Given the description of an element on the screen output the (x, y) to click on. 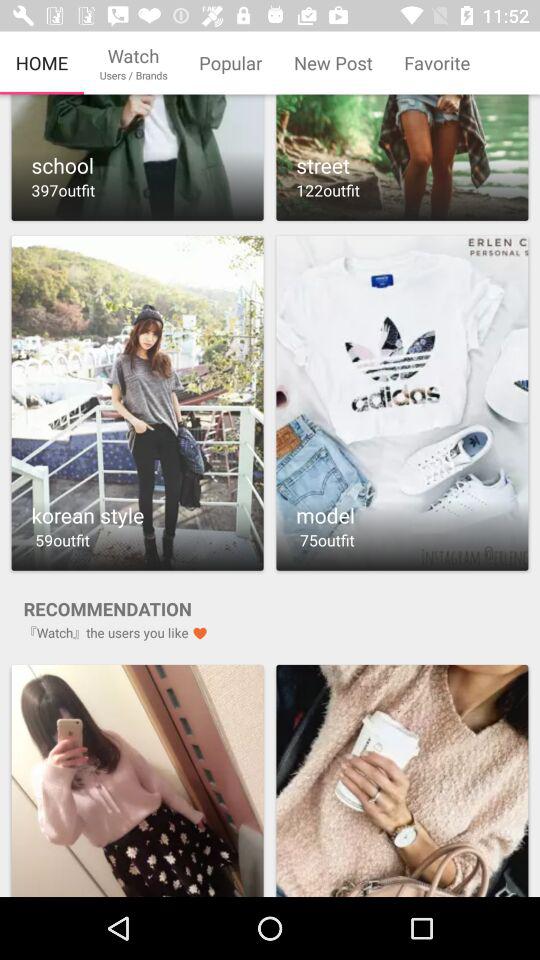
view outfit (137, 402)
